Given the description of an element on the screen output the (x, y) to click on. 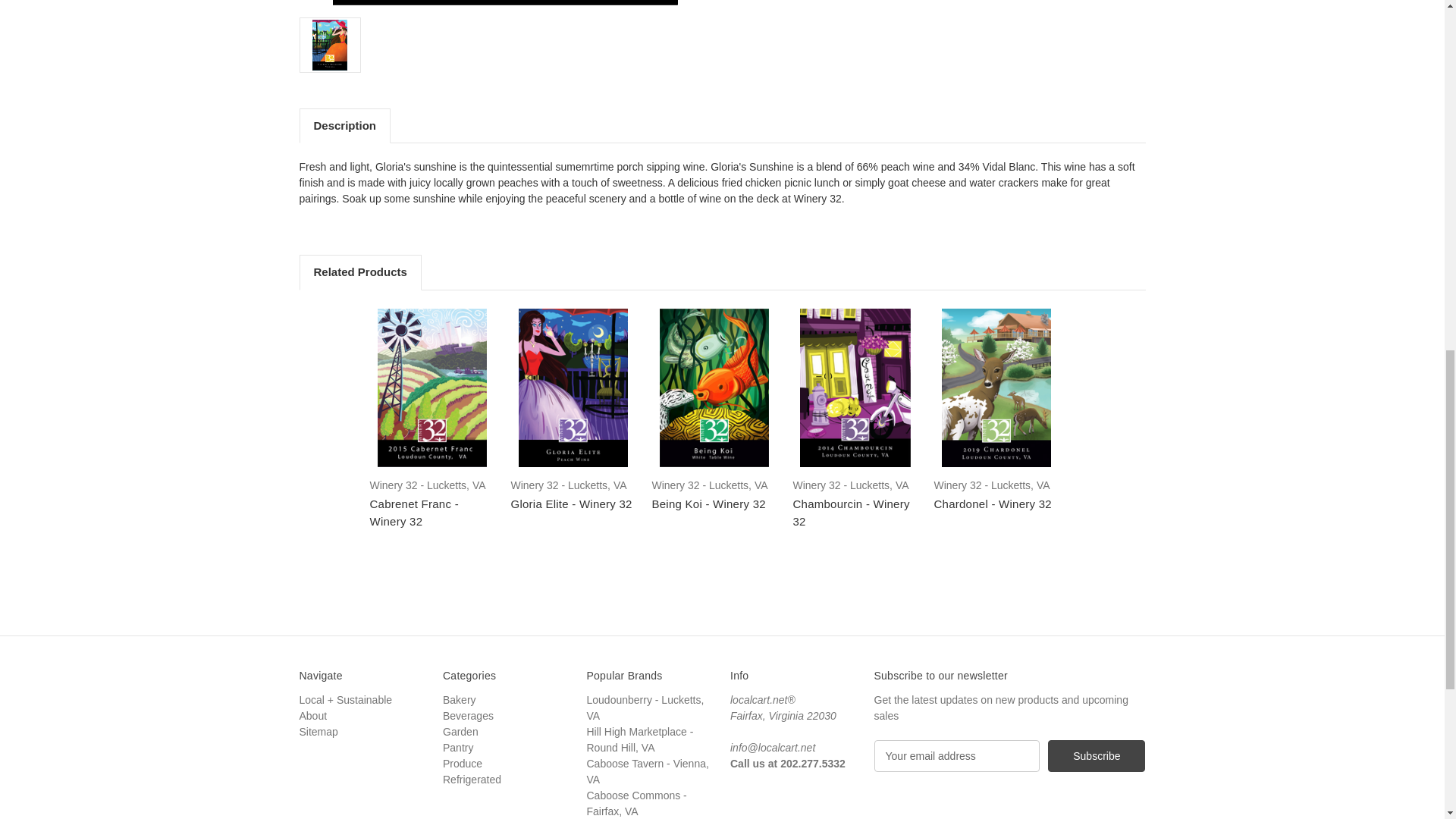
Subscribe (1096, 756)
Wine label (504, 2)
